Given the description of an element on the screen output the (x, y) to click on. 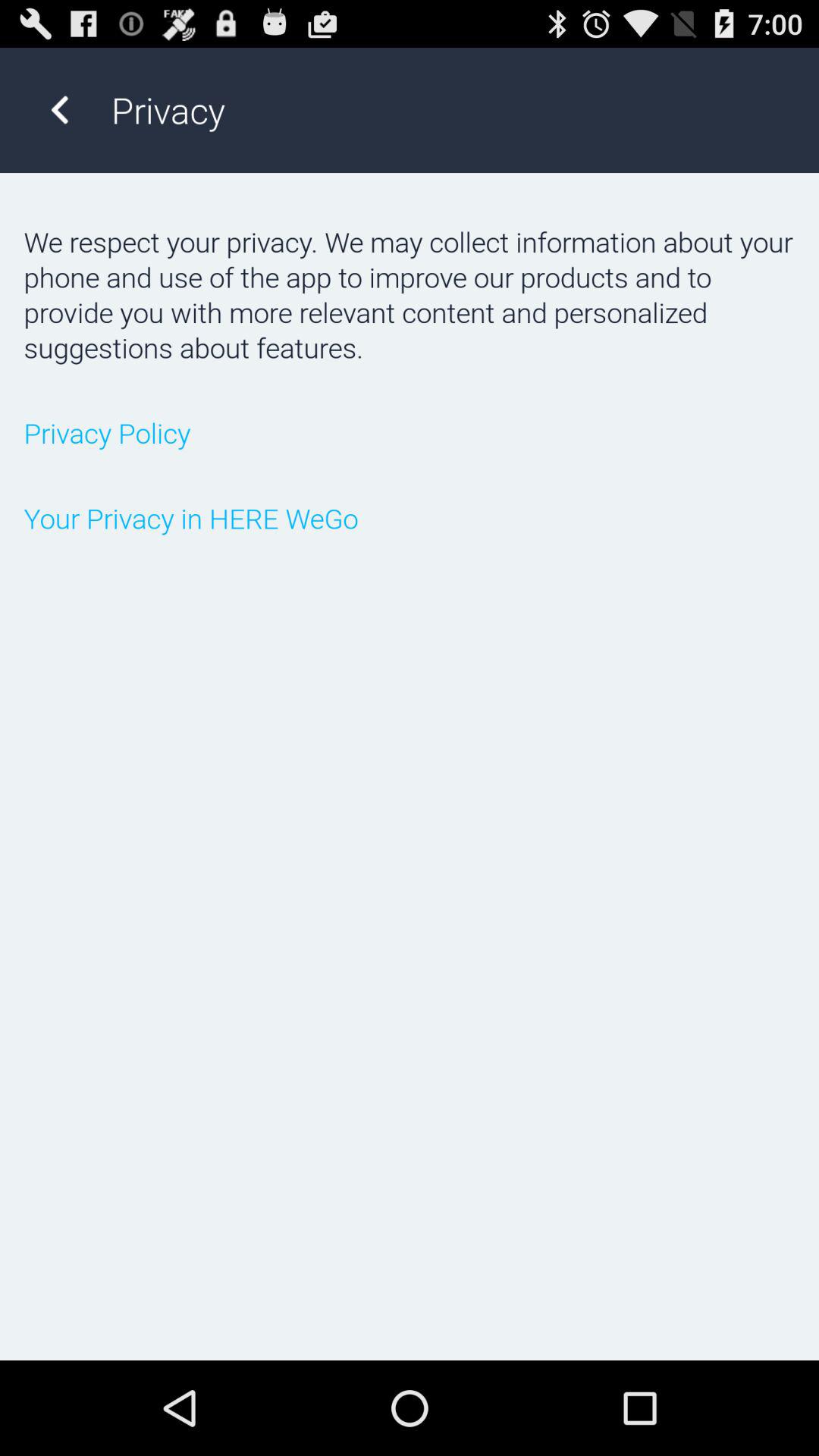
click privacy policy icon (409, 432)
